Given the description of an element on the screen output the (x, y) to click on. 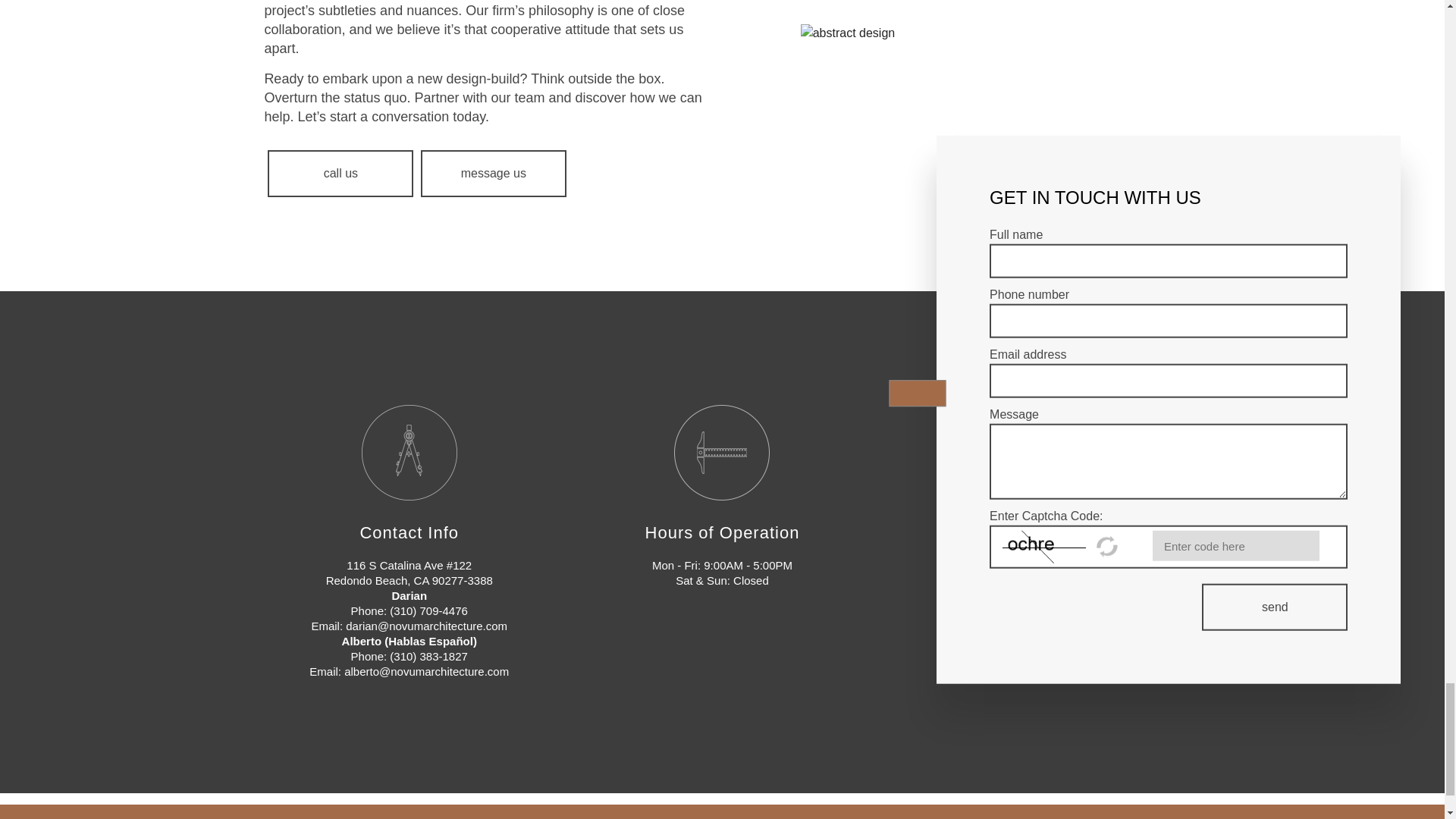
Message Us (493, 173)
Novum Architecture Inc's Google Maps (1049, 568)
